Given the description of an element on the screen output the (x, y) to click on. 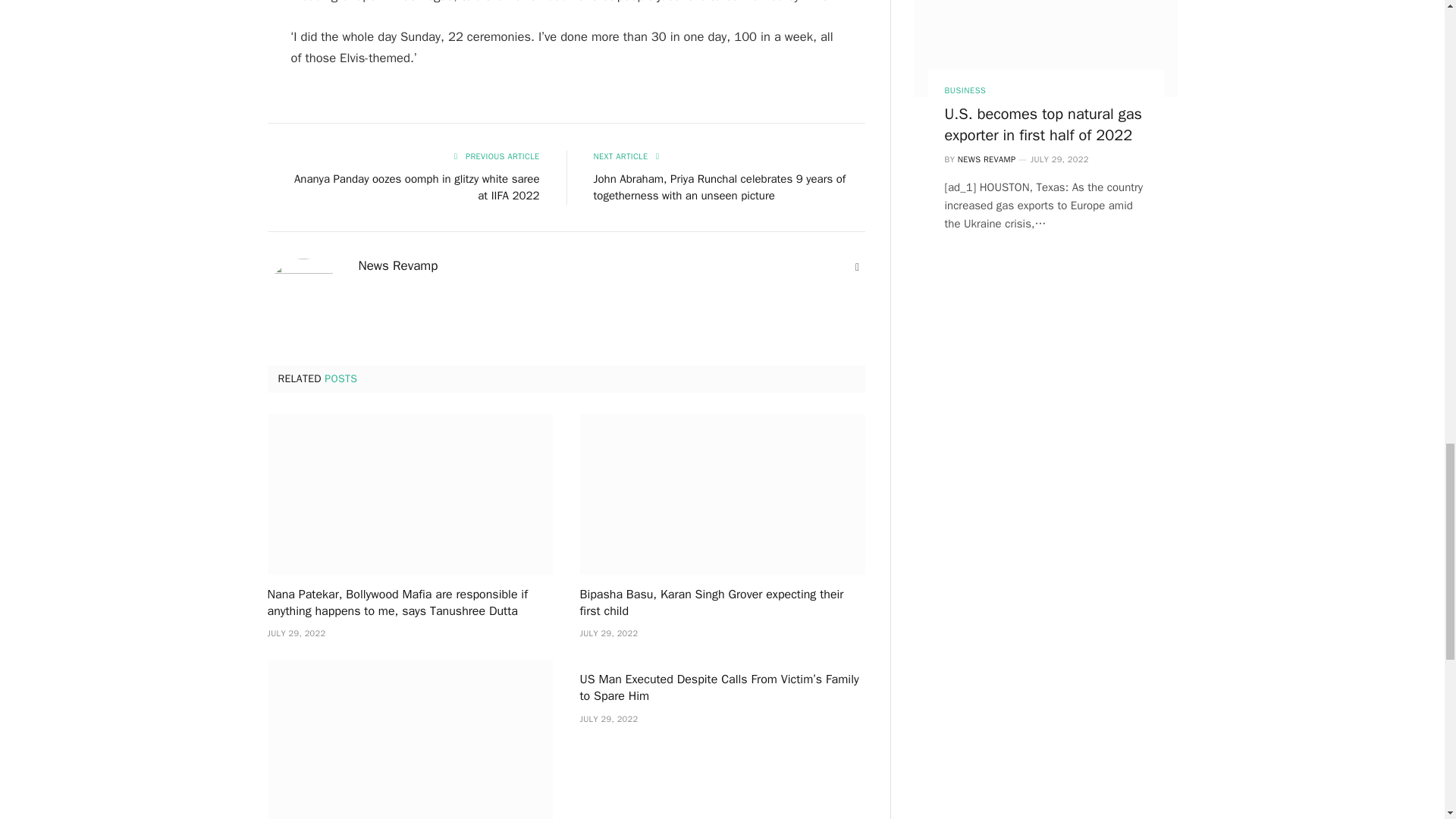
News Revamp (398, 265)
Posts by News Revamp (398, 265)
Ananya Panday oozes oomph in glitzy white saree at IIFA 2022 (417, 187)
Bipasha Basu, Karan Singh Grover expecting their first child (721, 603)
Website (856, 267)
Website (856, 267)
Bipasha Basu, Karan Singh Grover expecting their first child (721, 494)
